Given the description of an element on the screen output the (x, y) to click on. 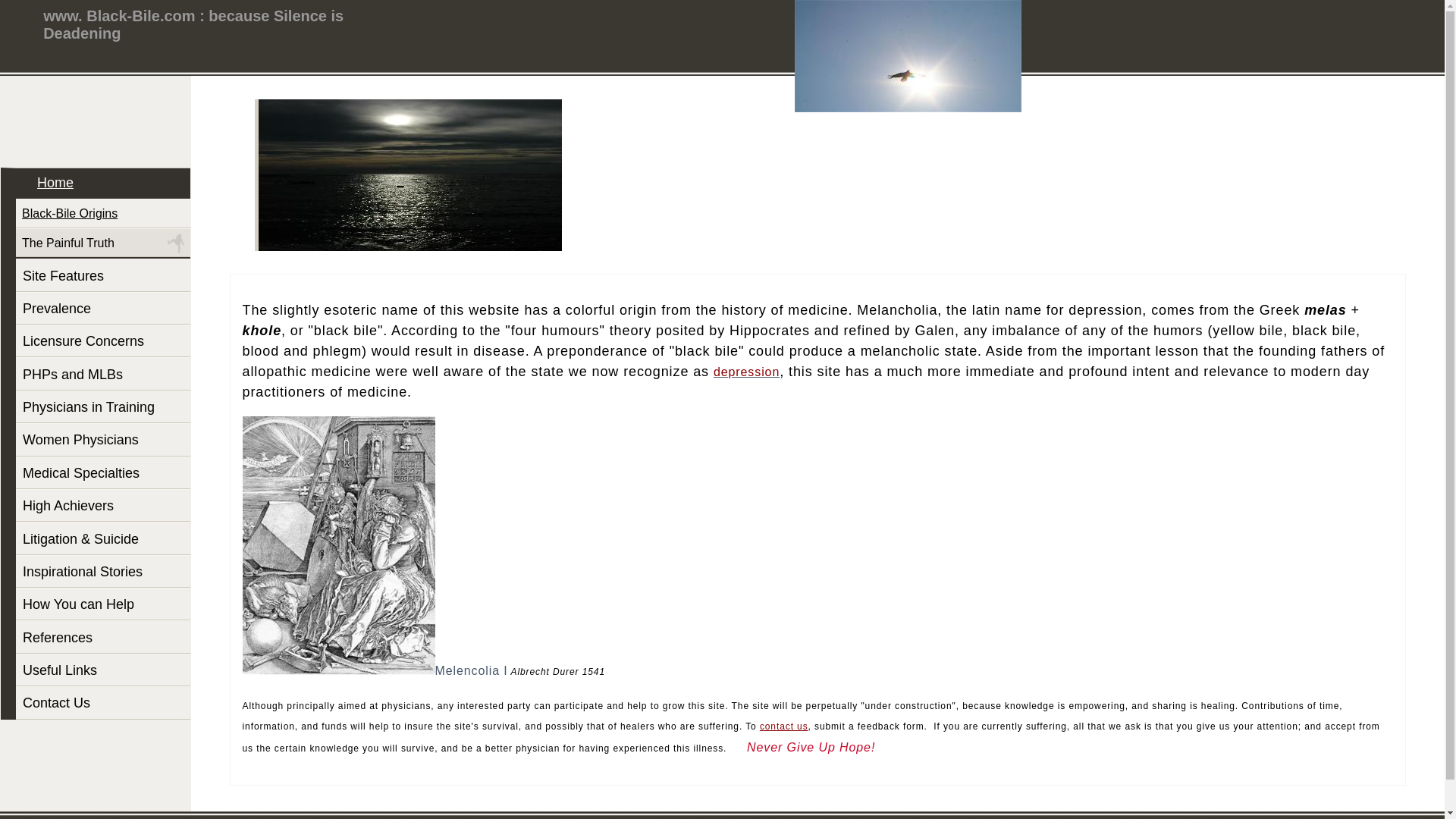
The Painful Truth (103, 242)
Contact Us (103, 702)
Medical Specialties (103, 472)
Site Features (103, 274)
Black-Bile Origins (103, 213)
Melencolia I (471, 670)
Home (103, 183)
Physicians in Training (103, 406)
Inspirational Stories (103, 571)
Licensure Concerns (103, 340)
depression (745, 371)
definition of depression  (745, 371)
High Achievers (103, 504)
Women Physicians (103, 439)
contact us (784, 725)
